Given the description of an element on the screen output the (x, y) to click on. 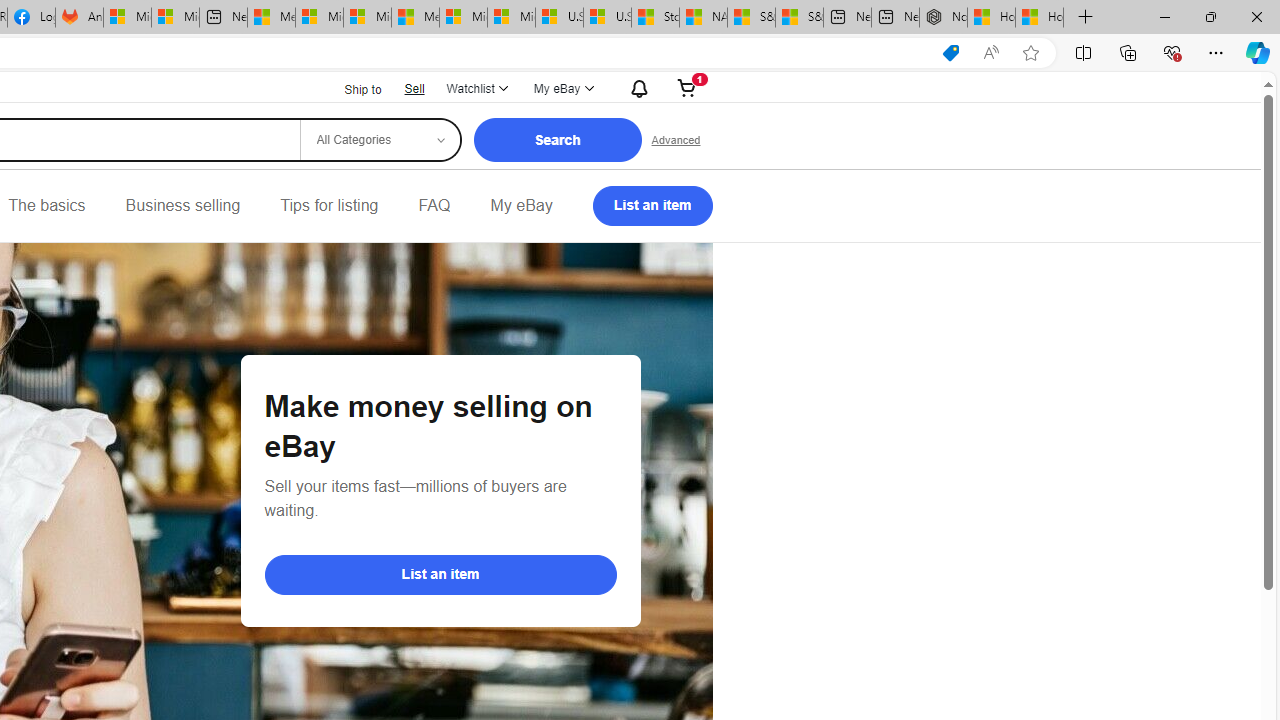
My eBayExpand My eBay (562, 88)
S&P 500, Nasdaq end lower, weighed by Nvidia dip | Watch (799, 17)
Advanced Search (675, 139)
